Given the description of an element on the screen output the (x, y) to click on. 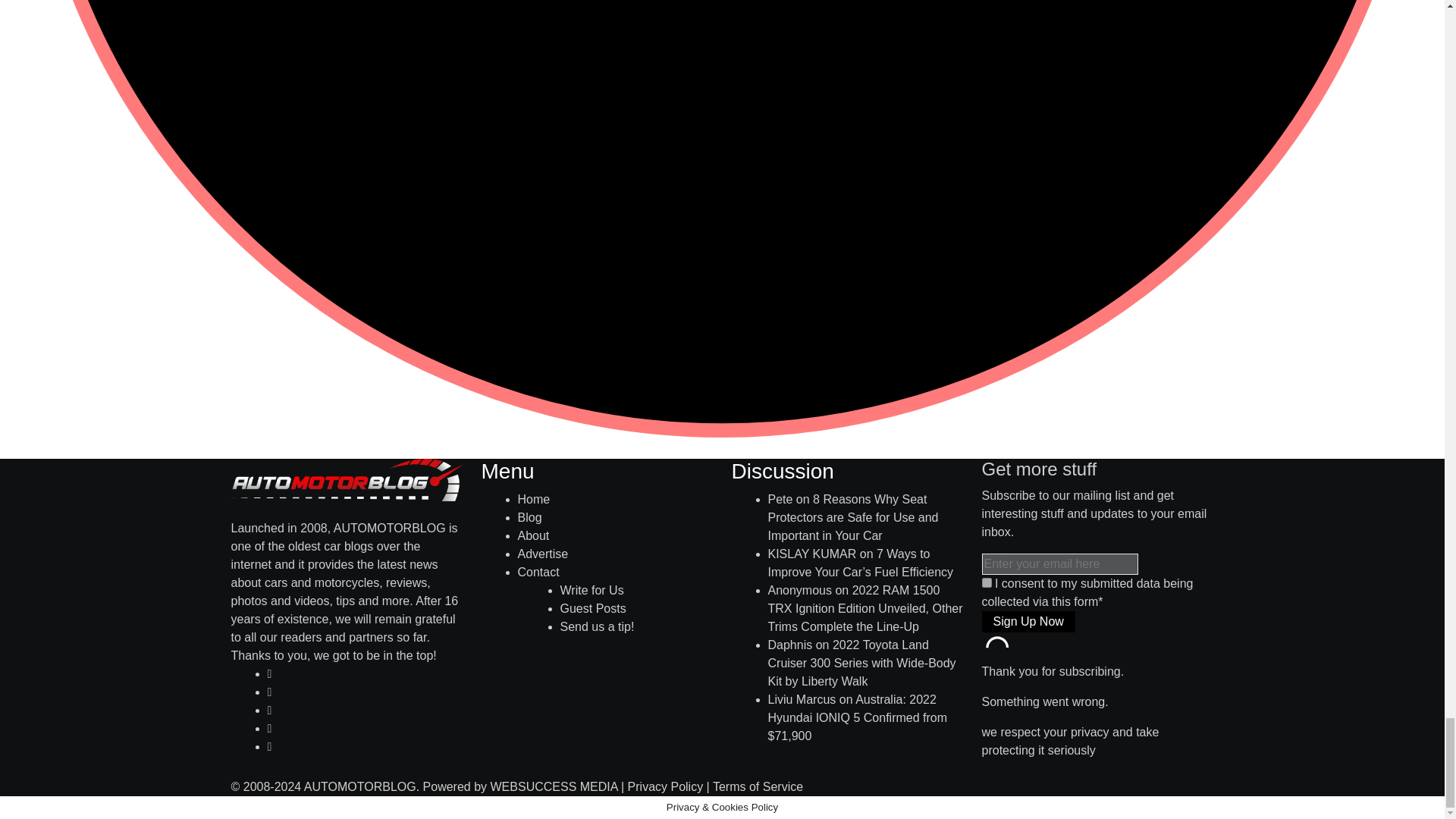
Sign Up Now (1027, 621)
on (986, 583)
